Given the description of an element on the screen output the (x, y) to click on. 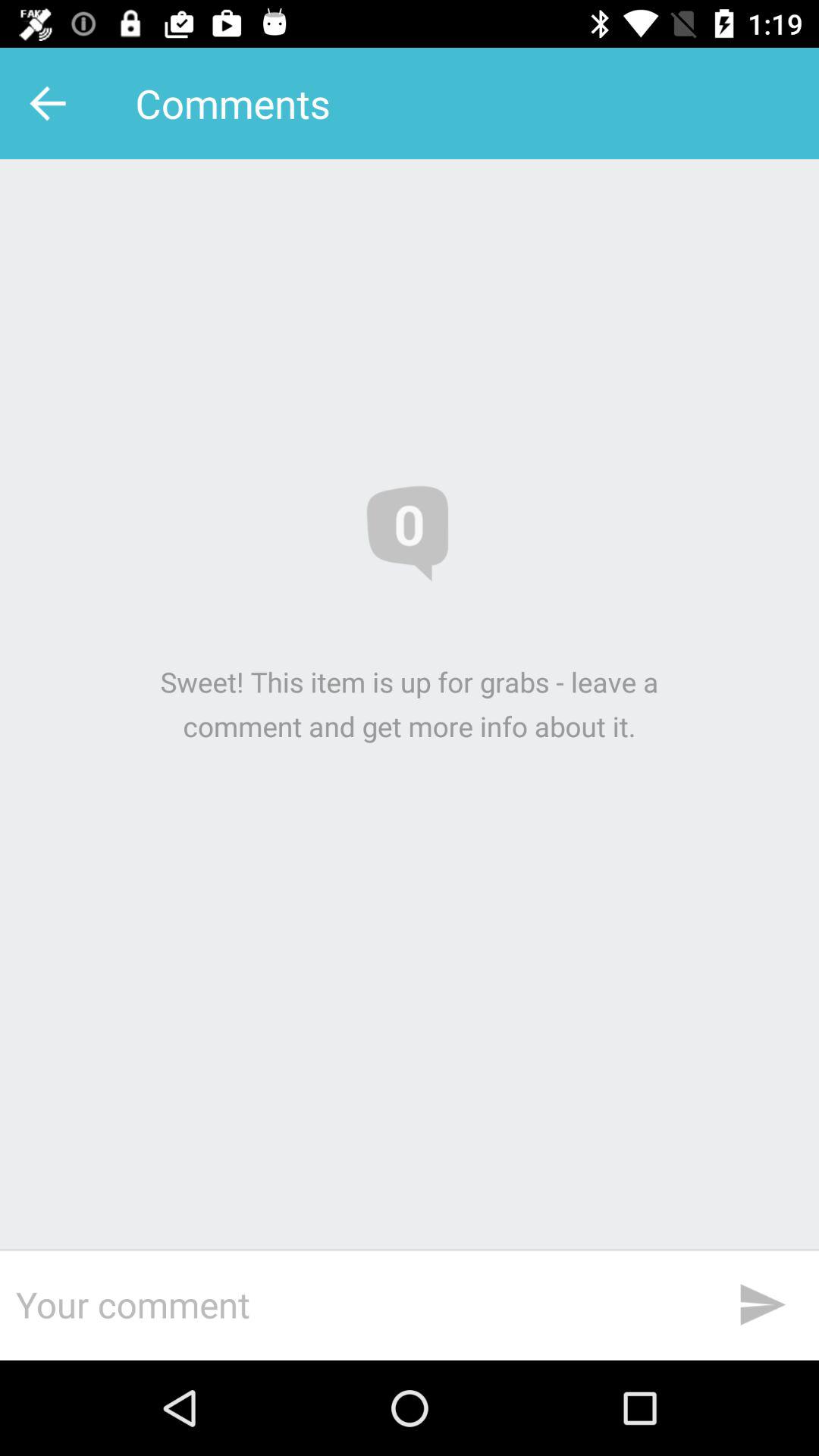
launch icon to the left of the comments item (51, 102)
